Given the description of an element on the screen output the (x, y) to click on. 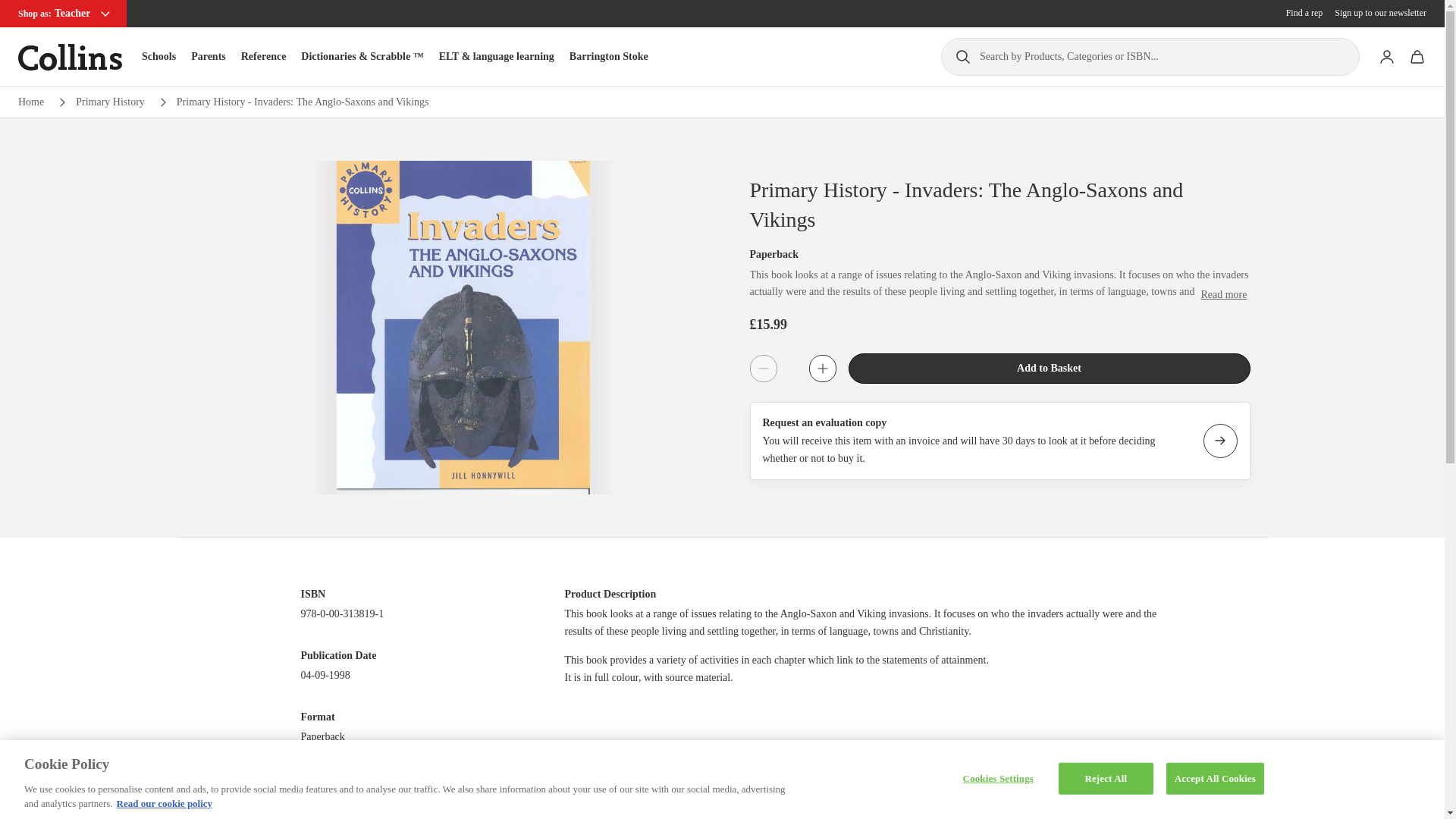
Decrease quantity (762, 368)
Schools (158, 56)
Find a rep (1304, 12)
Barrington Stoke (608, 56)
Read more (1222, 294)
Increase quantity (821, 368)
Home (30, 102)
Read all about Primary History (109, 102)
Collins (69, 57)
Primary History - Invaders: The Anglo-Saxons and Vikings (302, 102)
Parents (208, 56)
Primary History (109, 102)
Toggle cart (1417, 56)
Reference (264, 56)
